Given the description of an element on the screen output the (x, y) to click on. 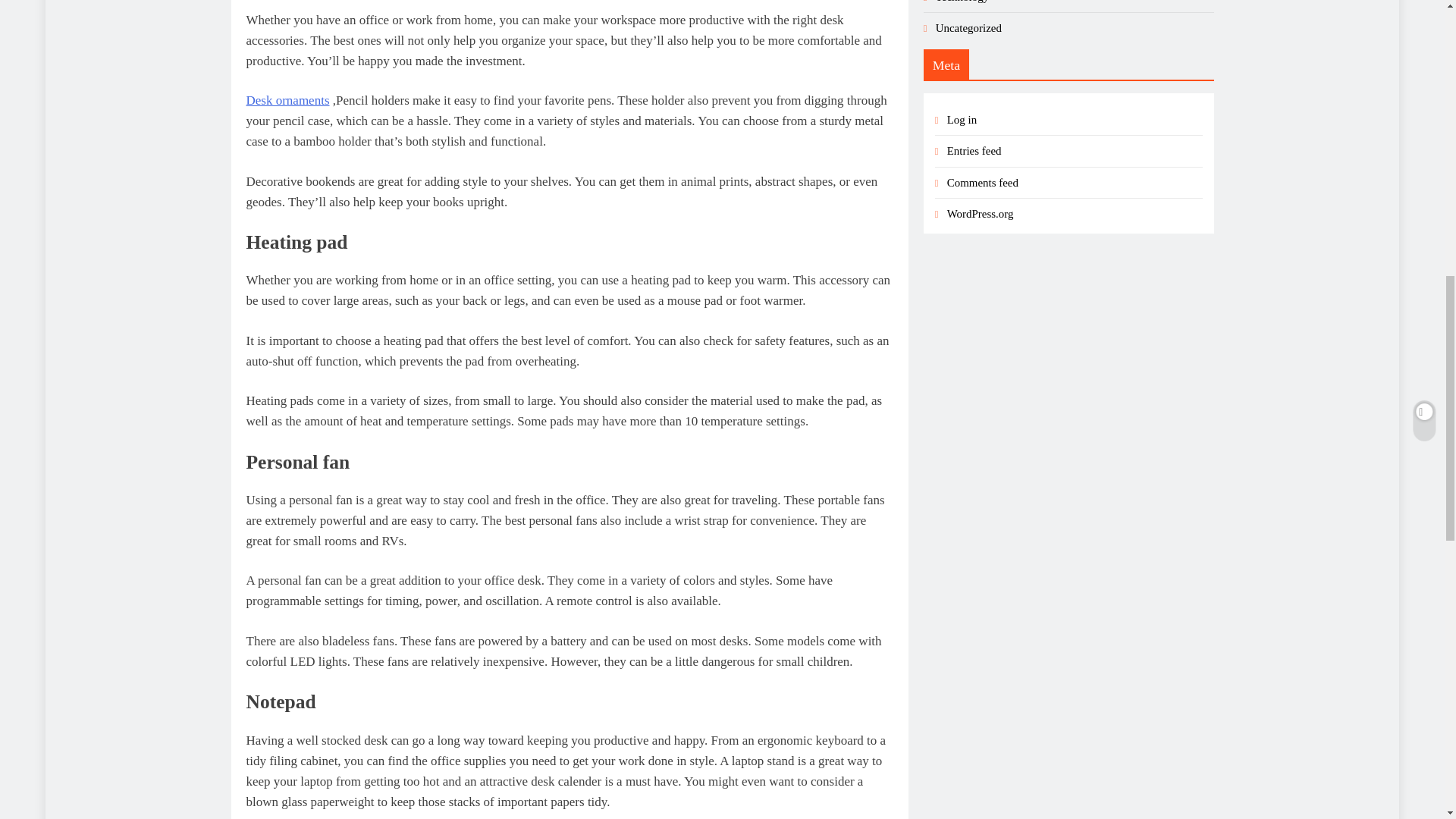
Desk ornaments (287, 100)
